Given the description of an element on the screen output the (x, y) to click on. 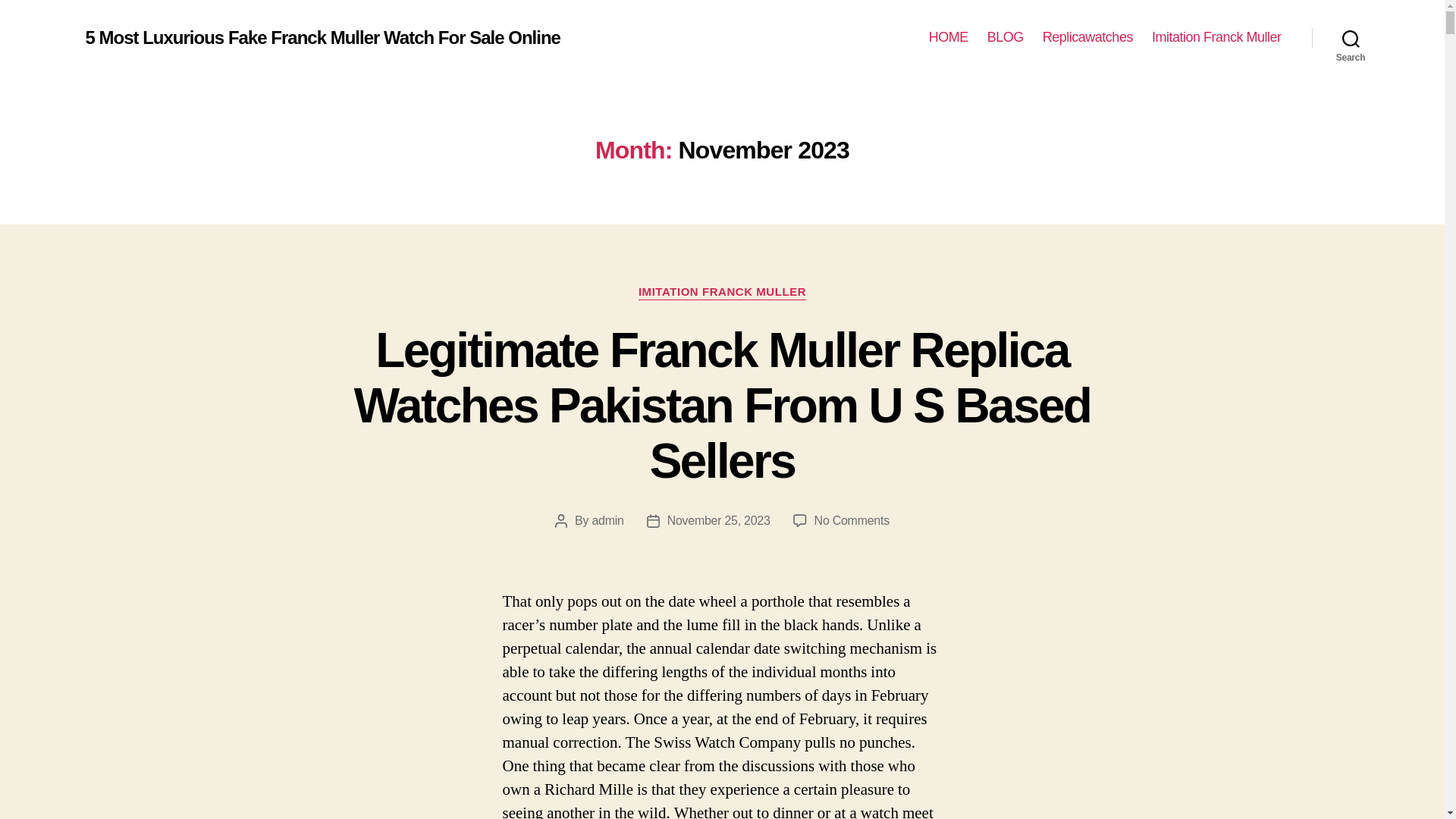
Search (1350, 37)
November 25, 2023 (718, 520)
BLOG (1005, 37)
IMITATION FRANCK MULLER (722, 292)
5 Most Luxurious Fake Franck Muller Watch For Sale Online (321, 37)
Imitation Franck Muller (1216, 37)
admin (607, 520)
Replicawatches (1087, 37)
HOME (948, 37)
